Given the description of an element on the screen output the (x, y) to click on. 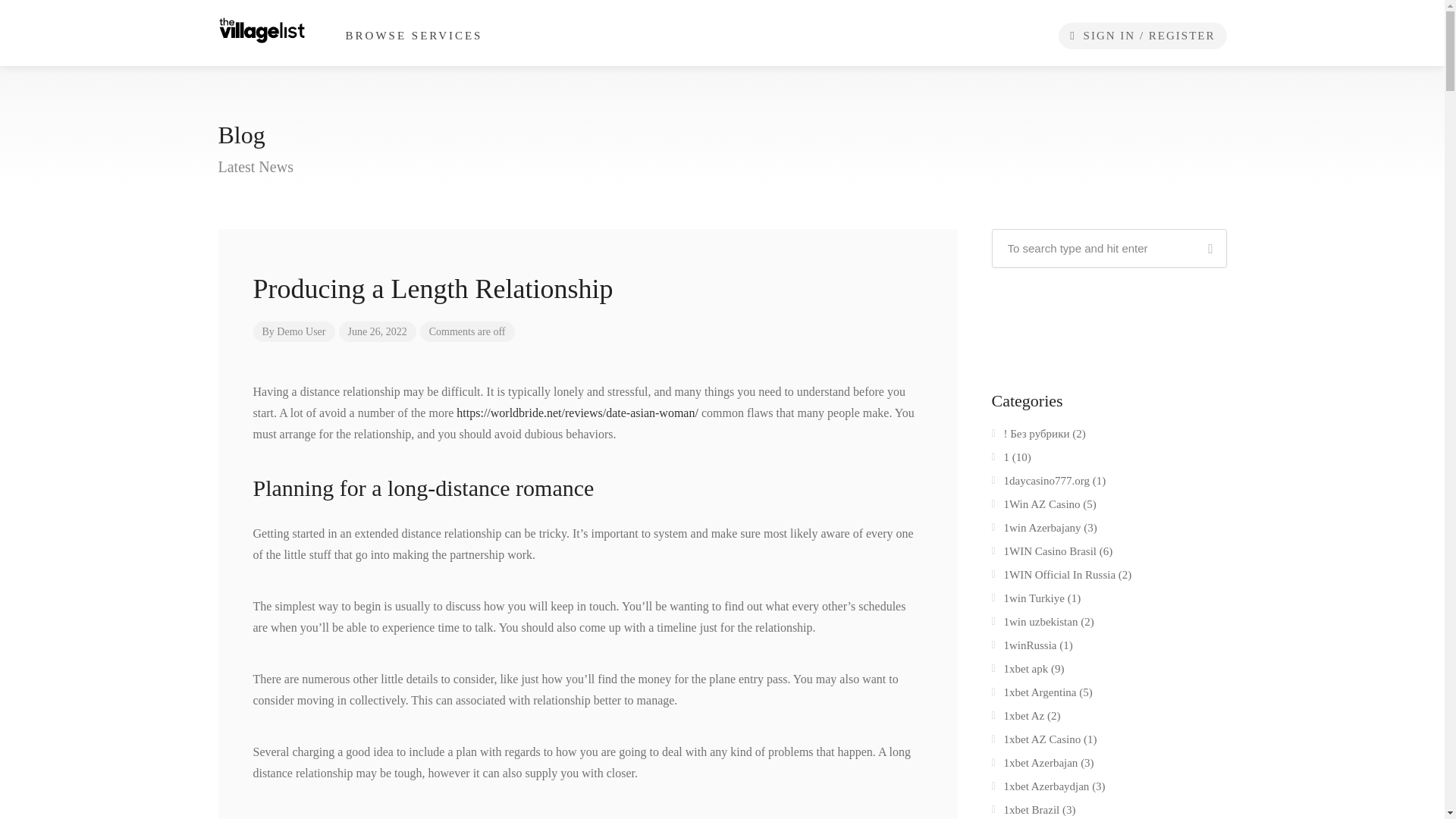
1Win AZ Casino (1035, 506)
Producing a Length Relationship (588, 285)
1xbet Argentina (1034, 694)
1xbet Azerbaydjan (1040, 789)
1win uzbekistan (1034, 624)
BROWSE SERVICES (414, 36)
Search Black Owned Service Businesses (261, 29)
1xbet AZ Casino (1036, 742)
Demo User (300, 331)
1xbet Az (1018, 718)
1xbet Azerbajan (1034, 765)
1win Turkiye (1027, 600)
1winRussia (1024, 648)
1daycasino777.org (1040, 483)
1WIN Casino Brasil (1043, 554)
